Given the description of an element on the screen output the (x, y) to click on. 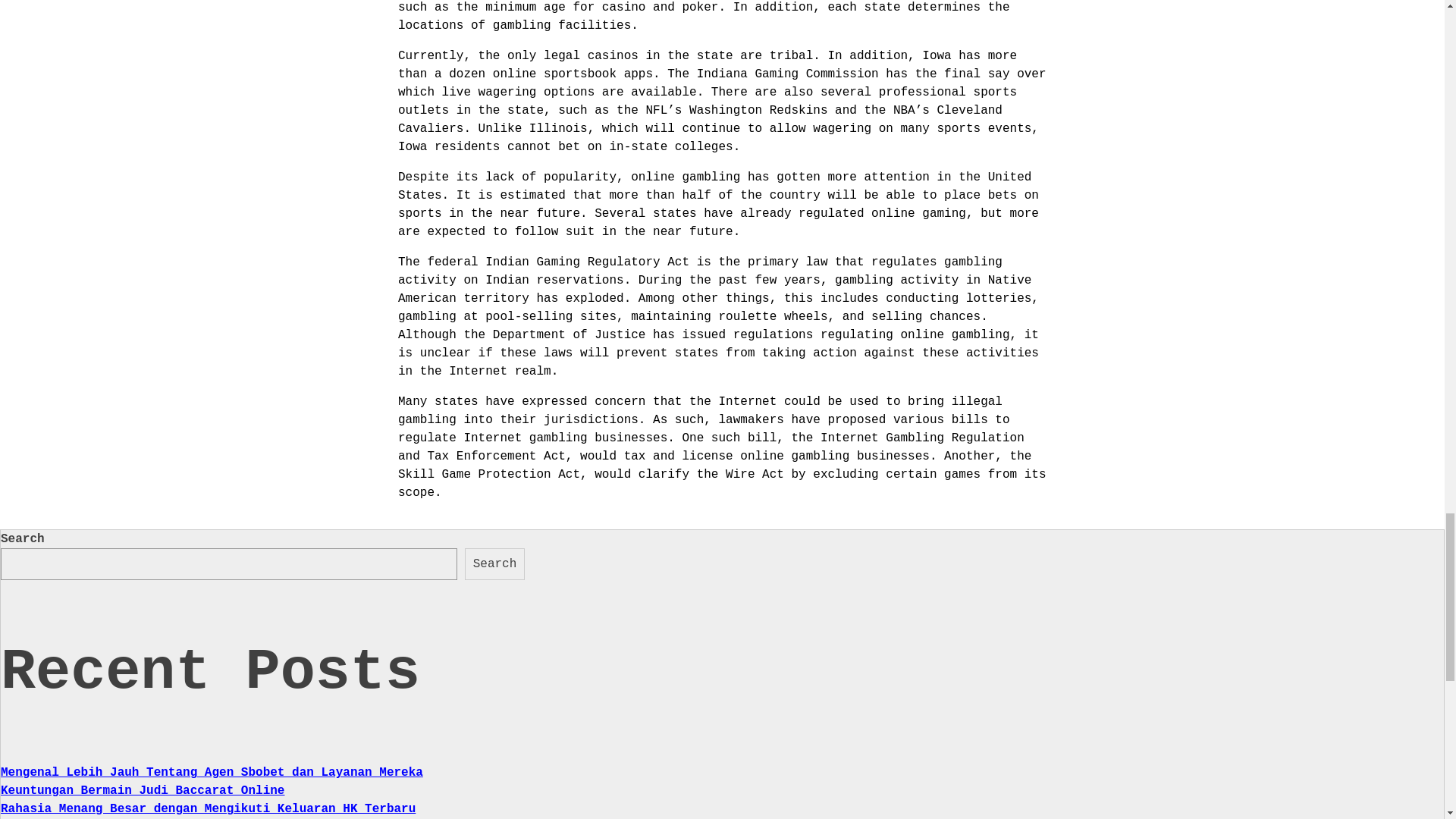
Keuntungan Bermain Judi Baccarat Online (142, 790)
Rahasia Menang Besar dengan Mengikuti Keluaran HK Terbaru (207, 808)
Mengenal Lebih Jauh Tentang Agen Sbobet dan Layanan Mereka (212, 772)
Search (494, 563)
